Given the description of an element on the screen output the (x, y) to click on. 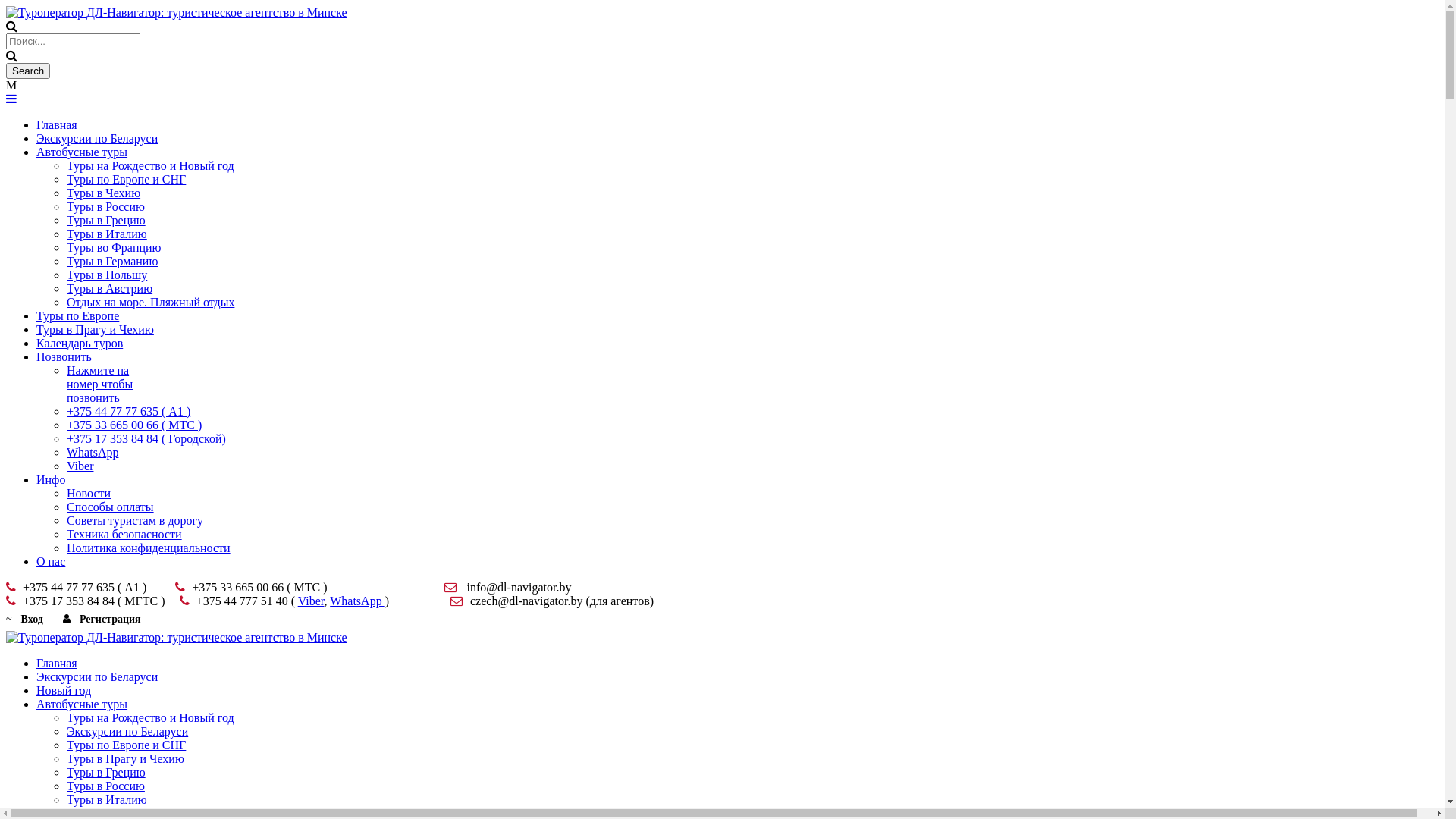
Viber Element type: text (79, 465)
Viber Element type: text (311, 600)
WhatsApp Element type: text (92, 451)
Search Element type: text (28, 70)
WhatsApp Element type: text (356, 600)
